Given the description of an element on the screen output the (x, y) to click on. 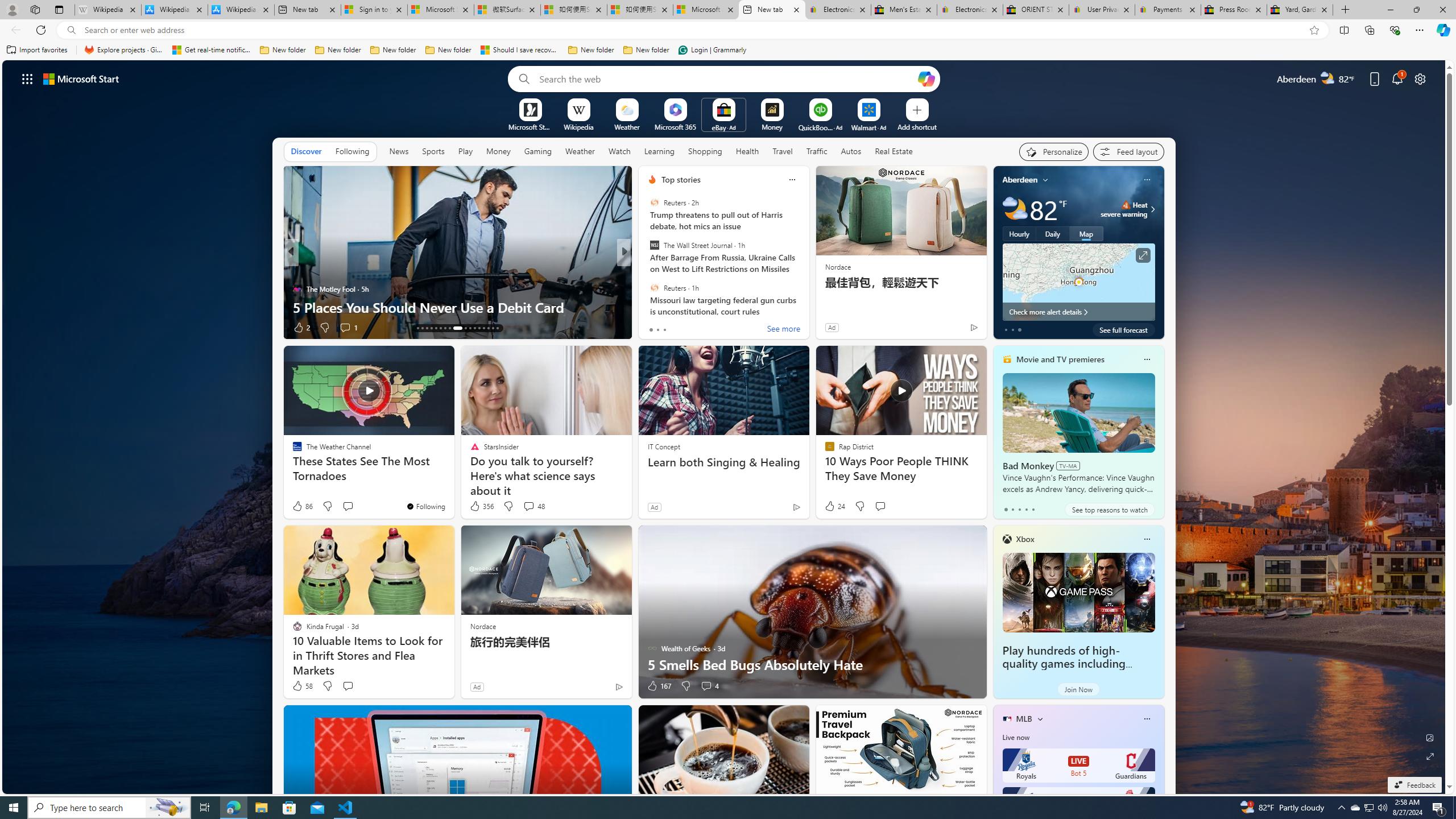
Microsoft Start Gaming (529, 126)
58 Like (301, 685)
Join Now (1078, 689)
News (398, 151)
AutomationID: tab-21 (454, 328)
Partly cloudy (1014, 208)
View comments 5 Comment (349, 327)
Traffic (816, 151)
Watch (619, 151)
Top stories (680, 179)
